Given the description of an element on the screen output the (x, y) to click on. 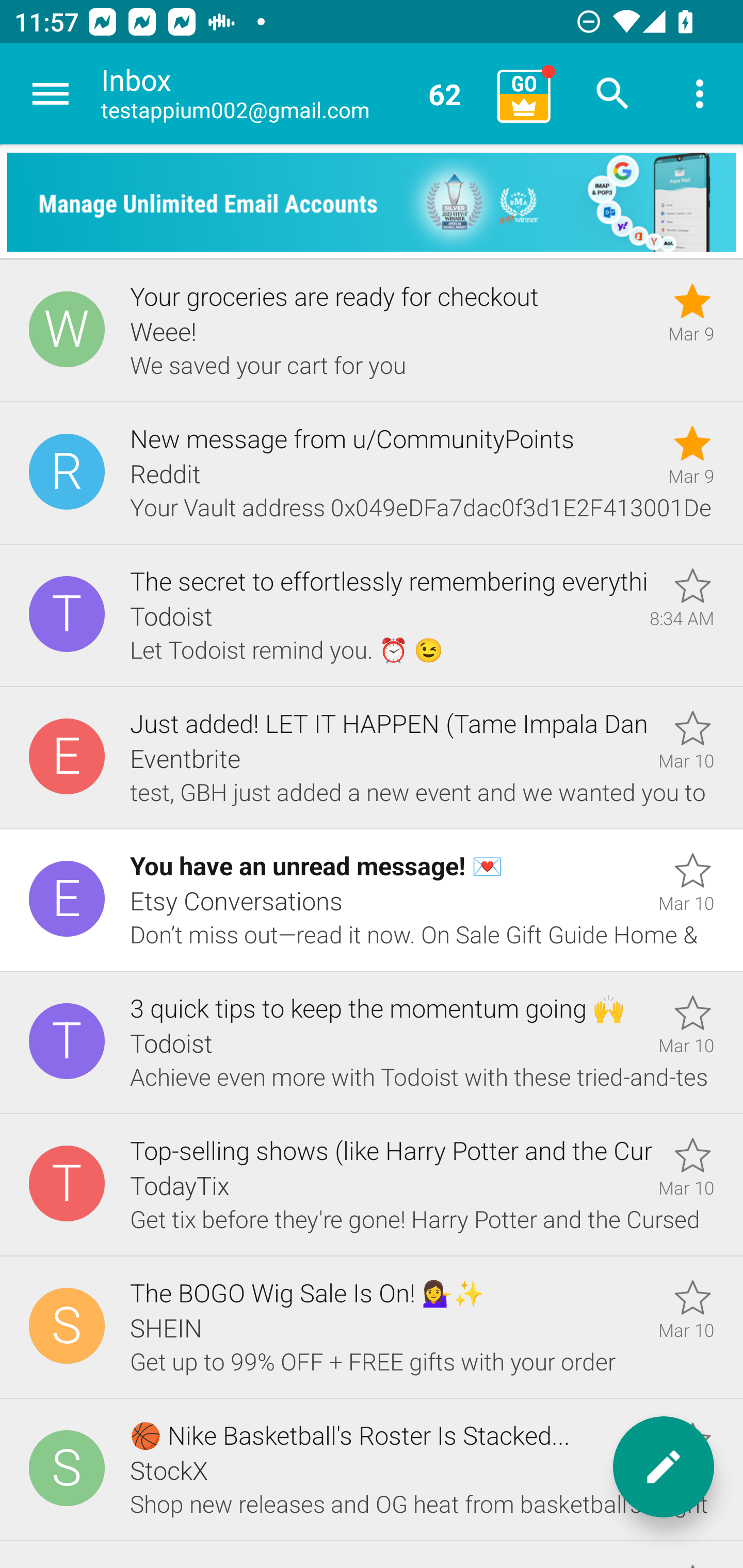
Navigate up (50, 93)
Inbox testappium002@gmail.com 62 (291, 93)
Search (612, 93)
More options (699, 93)
New message (663, 1466)
